Given the description of an element on the screen output the (x, y) to click on. 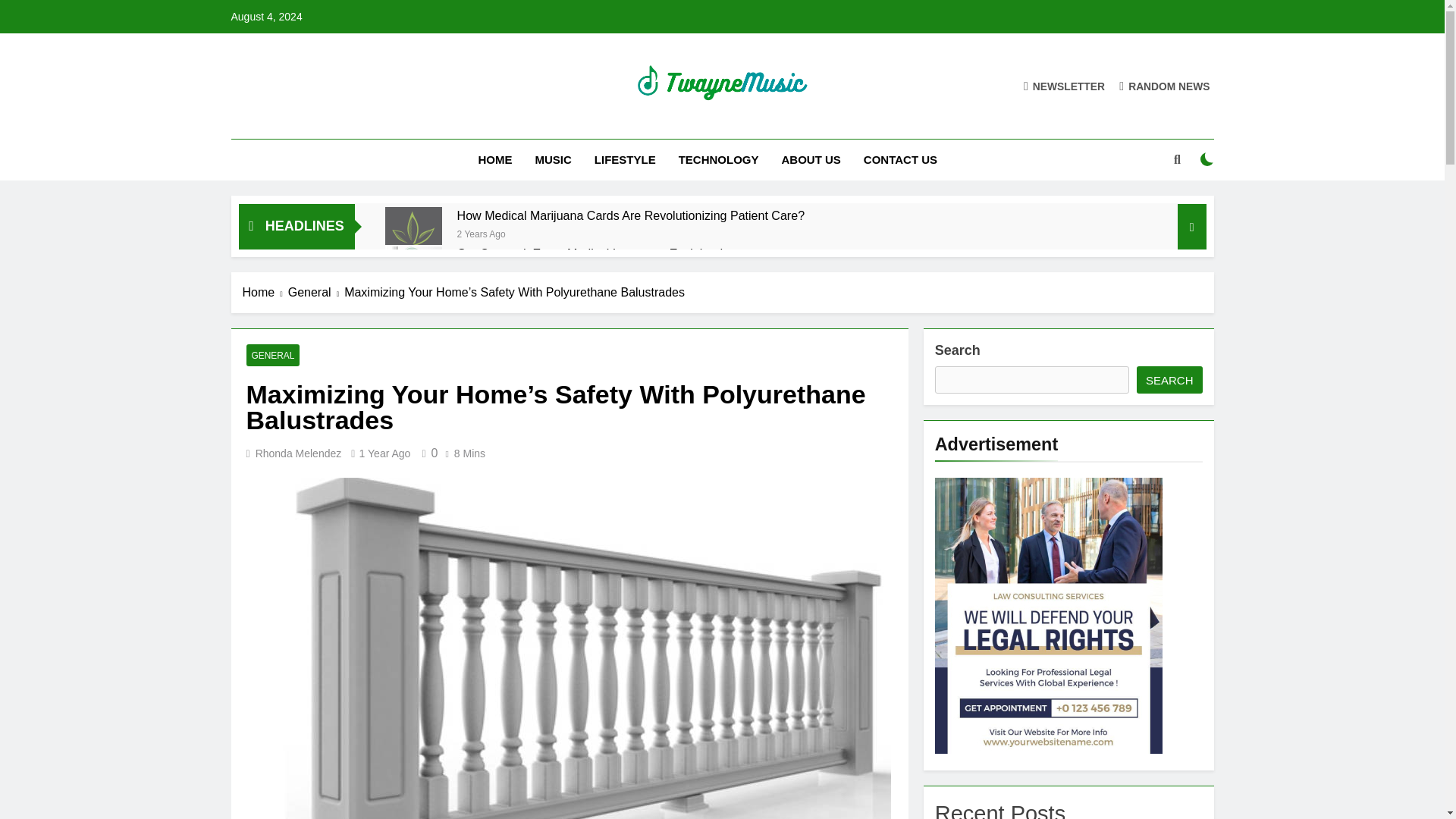
2 Years Ago (481, 232)
LIFESTYLE (624, 159)
on (1206, 159)
Get Covered: Expat Medical Insurance Explained (590, 253)
NEWSLETTER (1064, 85)
Get Covered: Expat Medical Insurance Explained (413, 273)
TECHNOLOGY (718, 159)
MUSIC (552, 159)
Get Covered: Expat Medical Insurance Explained (590, 253)
ABOUT US (810, 159)
RANDOM NEWS (1164, 85)
HOME (493, 159)
CONTACT US (900, 159)
